Given the description of an element on the screen output the (x, y) to click on. 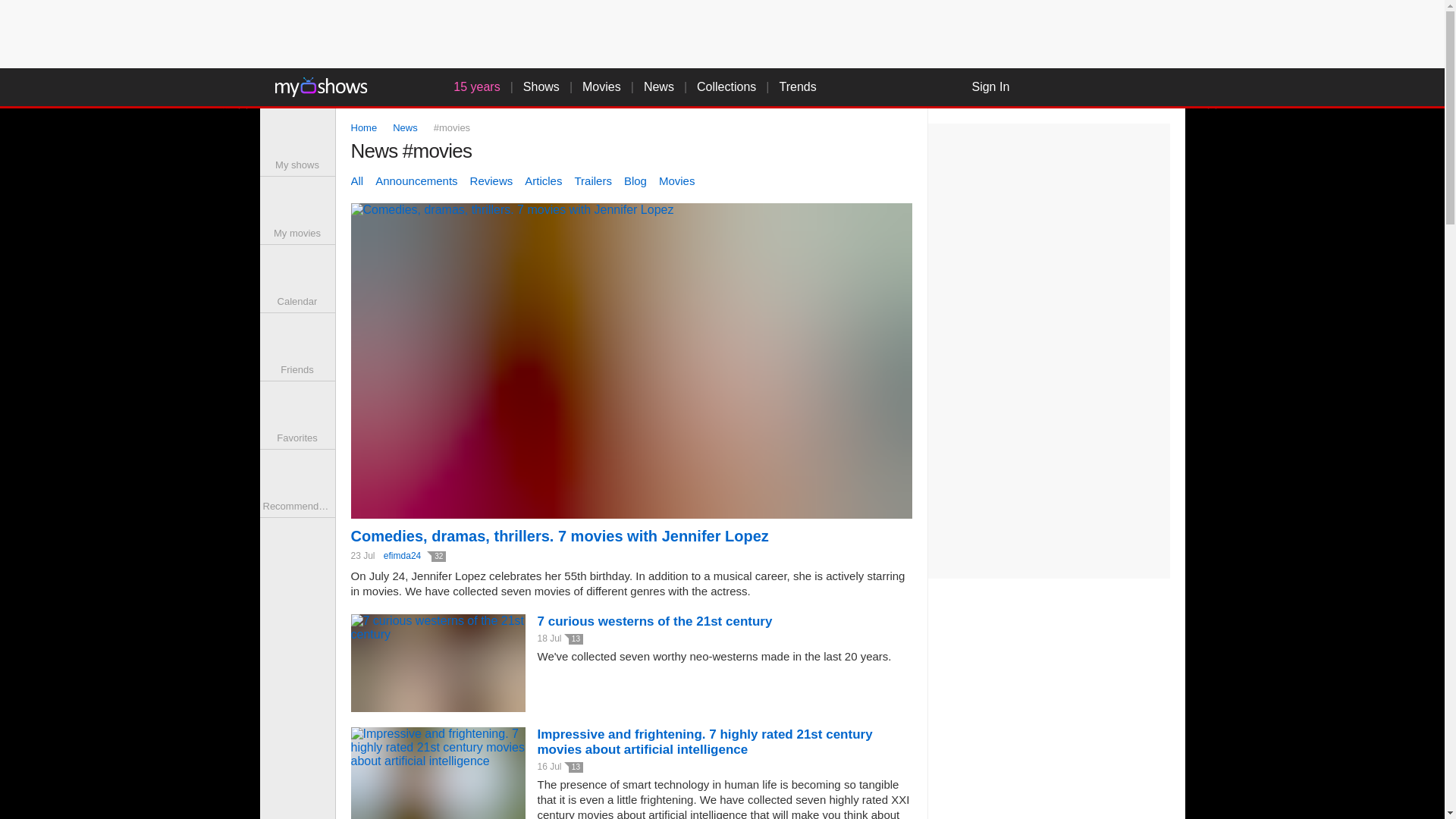
15 years (469, 86)
Shows (540, 86)
Movies (601, 86)
